Given the description of an element on the screen output the (x, y) to click on. 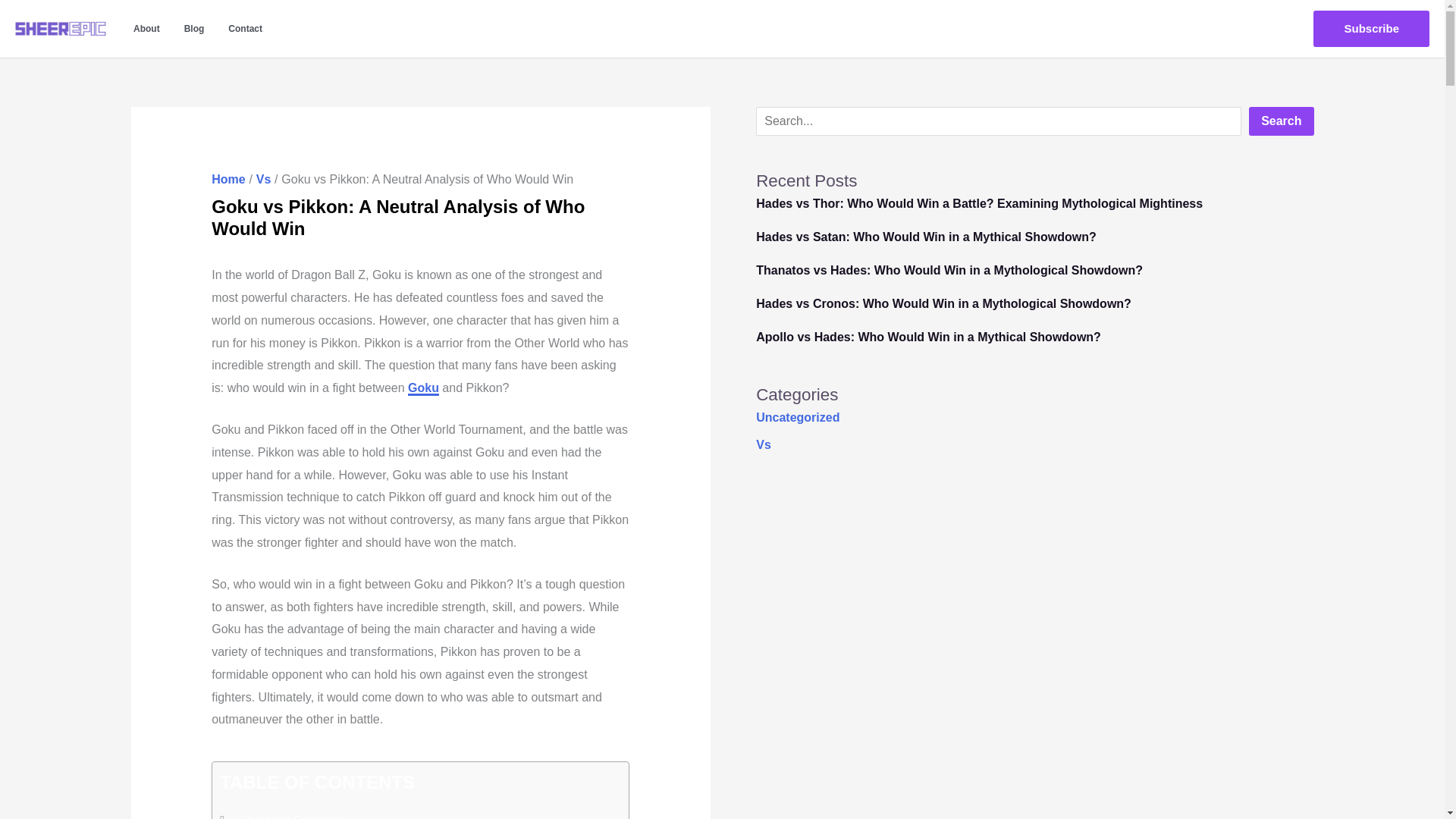
Goku (423, 387)
Subscribe (1371, 28)
Home (227, 178)
Vs (263, 178)
Contact (245, 28)
Search (1281, 121)
About (145, 28)
Character Overview (290, 814)
Blog (193, 28)
Character Overview (290, 814)
Goku (423, 387)
